Given the description of an element on the screen output the (x, y) to click on. 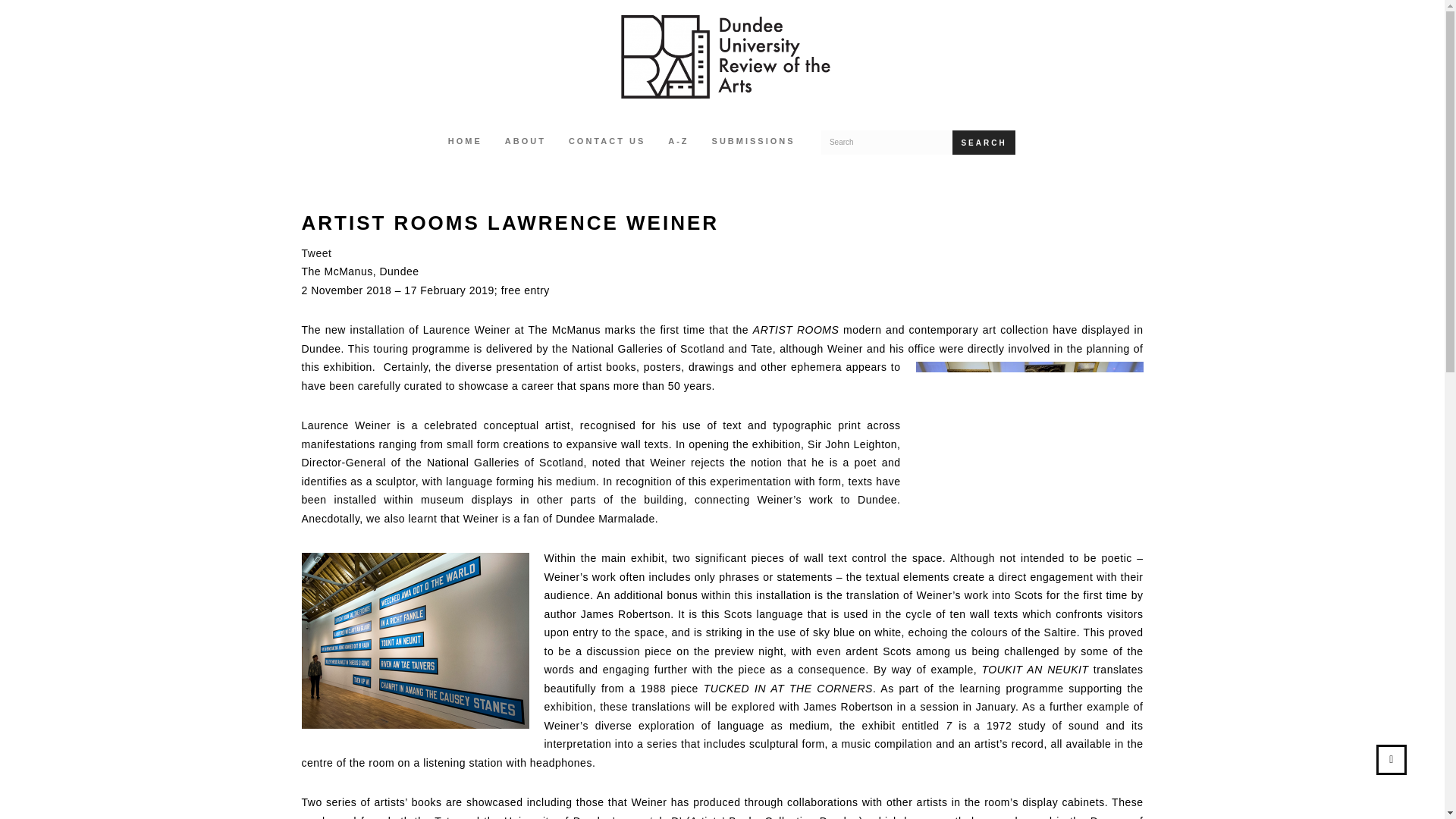
ABOUT (525, 142)
SUBMISSIONS (753, 142)
A-Z (678, 142)
Tweet (316, 253)
CONTACT US (606, 142)
SEARCH (983, 142)
HOME (464, 142)
